Given the description of an element on the screen output the (x, y) to click on. 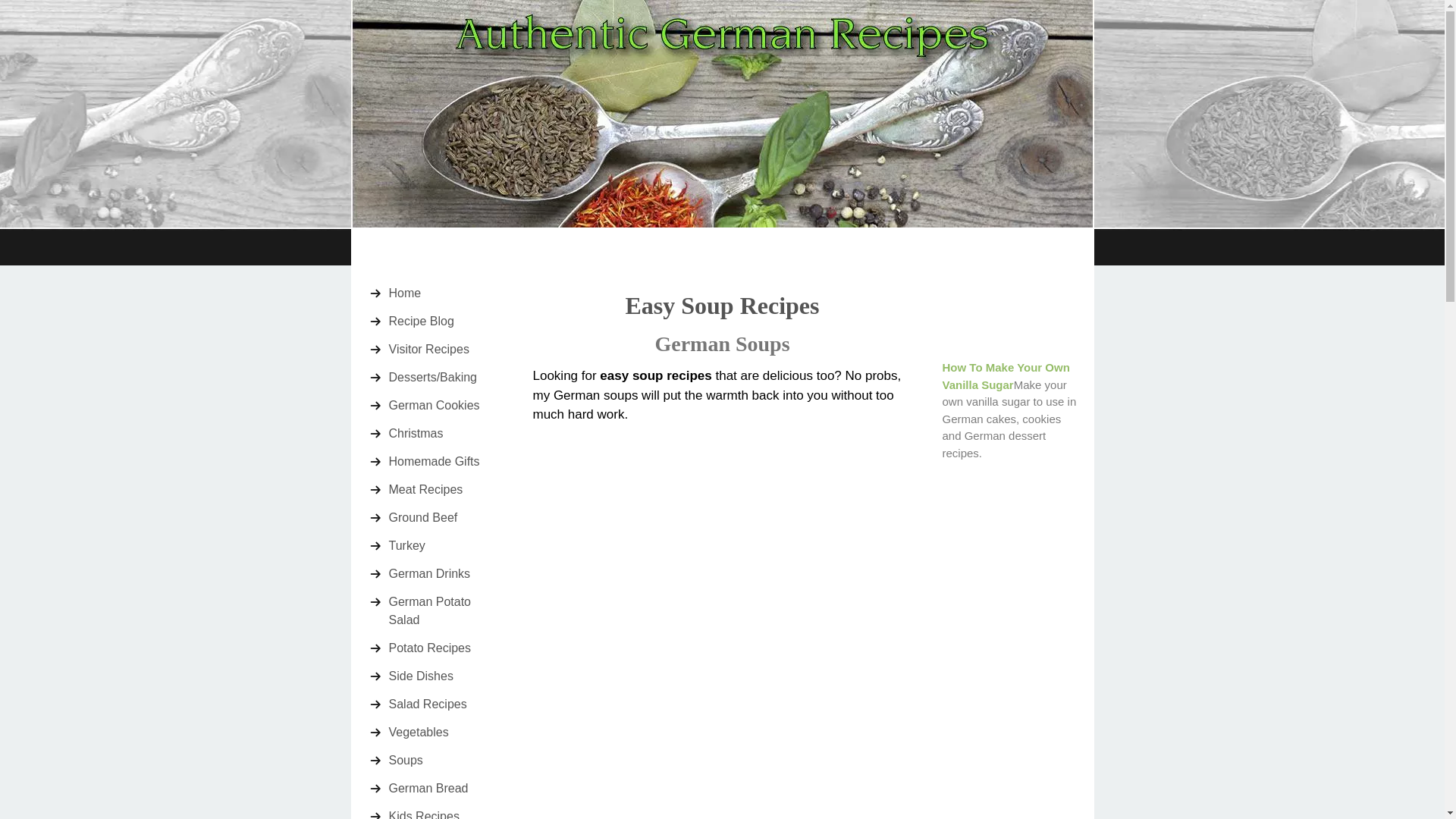
German Drinks (445, 574)
Advertisement (659, 742)
Visitor Recipes (445, 349)
Christmas (445, 433)
Ground Beef (445, 517)
Vegetables (445, 732)
Meat Recipes (445, 489)
Kids Recipes (445, 811)
German Cookies (445, 405)
Soups (445, 760)
